Given the description of an element on the screen output the (x, y) to click on. 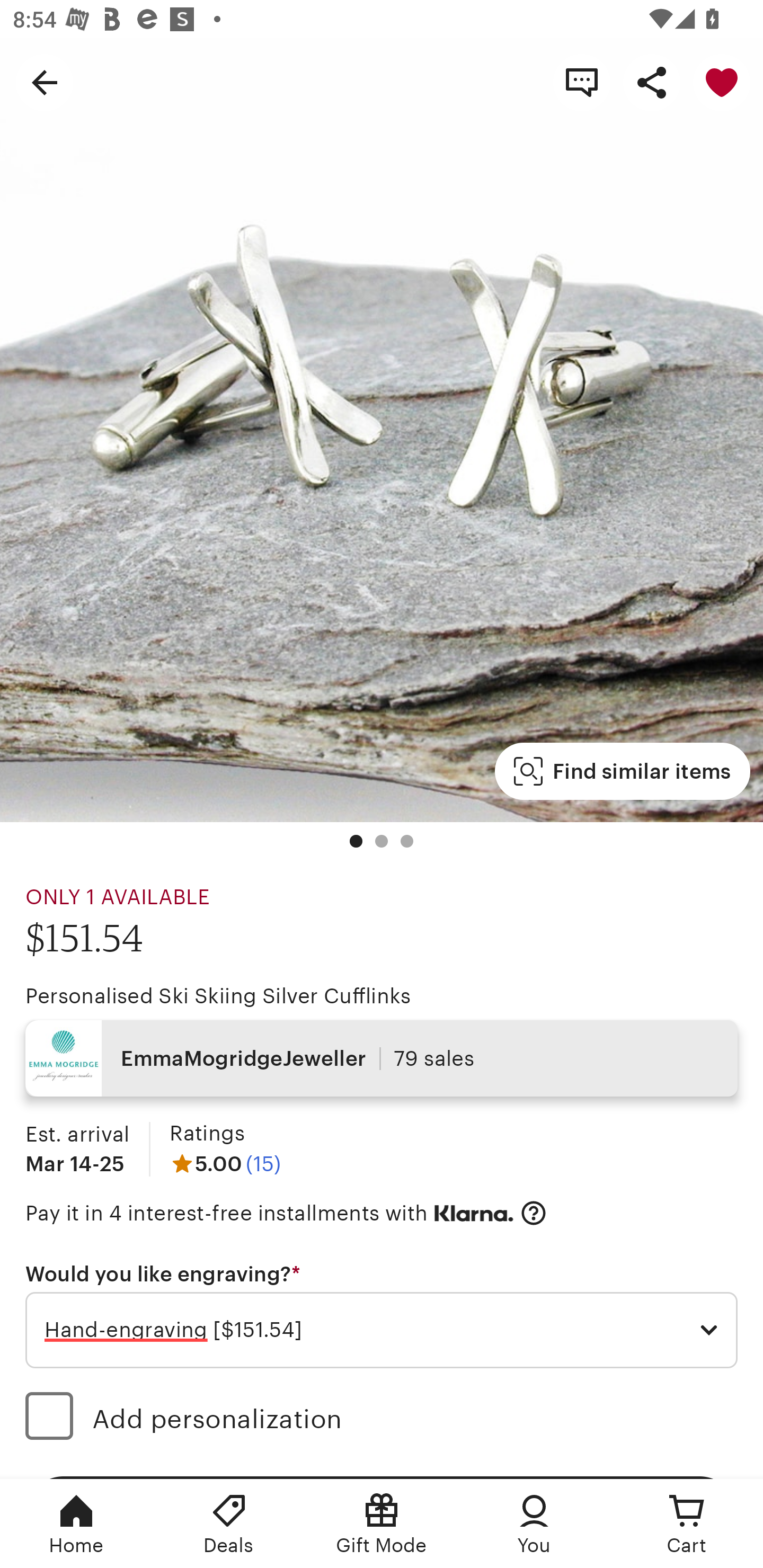
Navigate up (44, 81)
Contact shop (581, 81)
Share (651, 81)
Find similar items (622, 771)
Personalised Ski Skiing Silver Cufflinks (218, 996)
EmmaMogridgeJeweller 79 sales (381, 1058)
Ratings (206, 1133)
5.00 (15) (225, 1163)
Hand-engraving [$151.54] (381, 1330)
Add personalization (optional) Add personalization (381, 1418)
Deals (228, 1523)
Gift Mode (381, 1523)
You (533, 1523)
Cart (686, 1523)
